Given the description of an element on the screen output the (x, y) to click on. 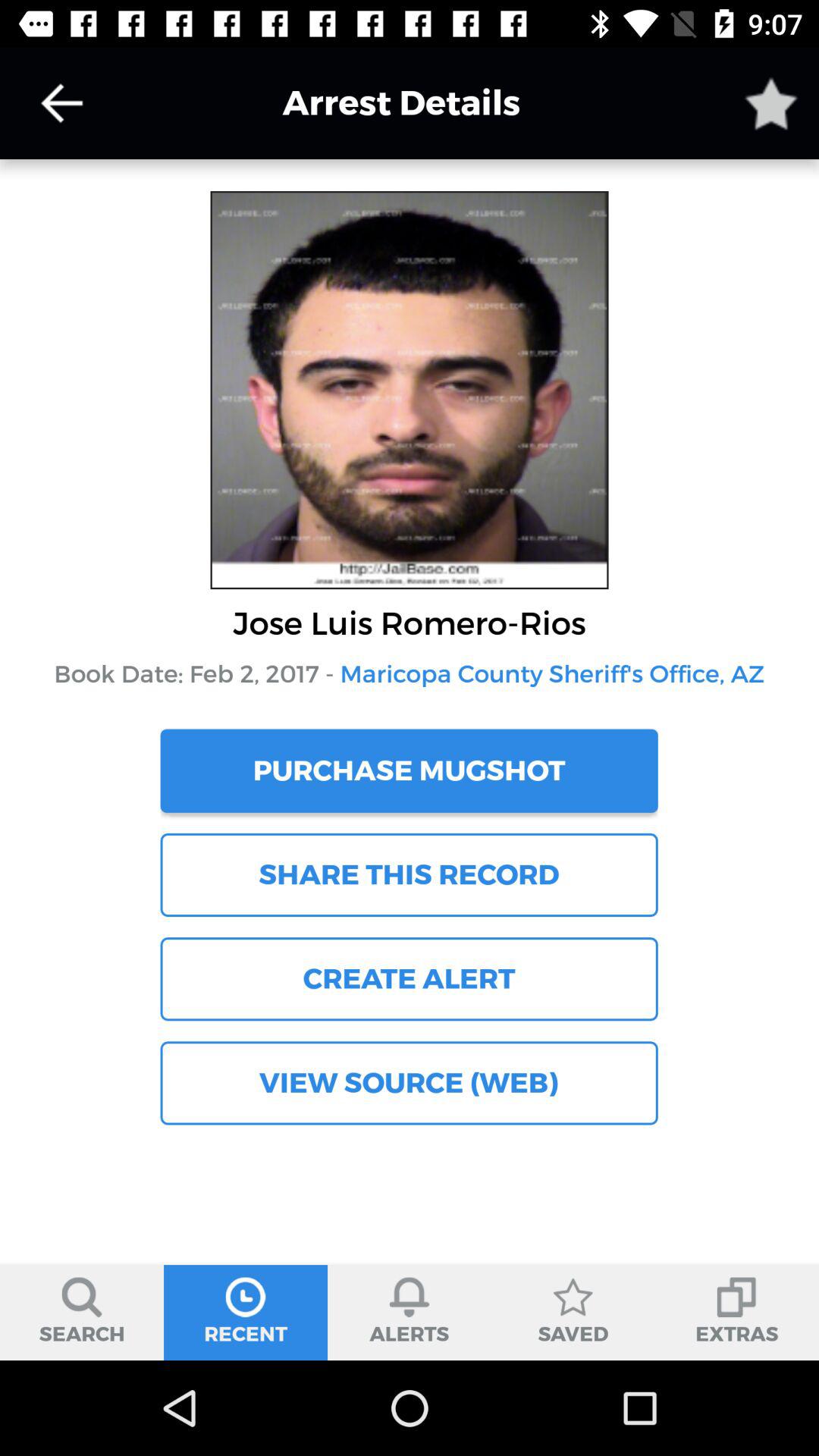
scroll until the       arrest details item (377, 103)
